Given the description of an element on the screen output the (x, y) to click on. 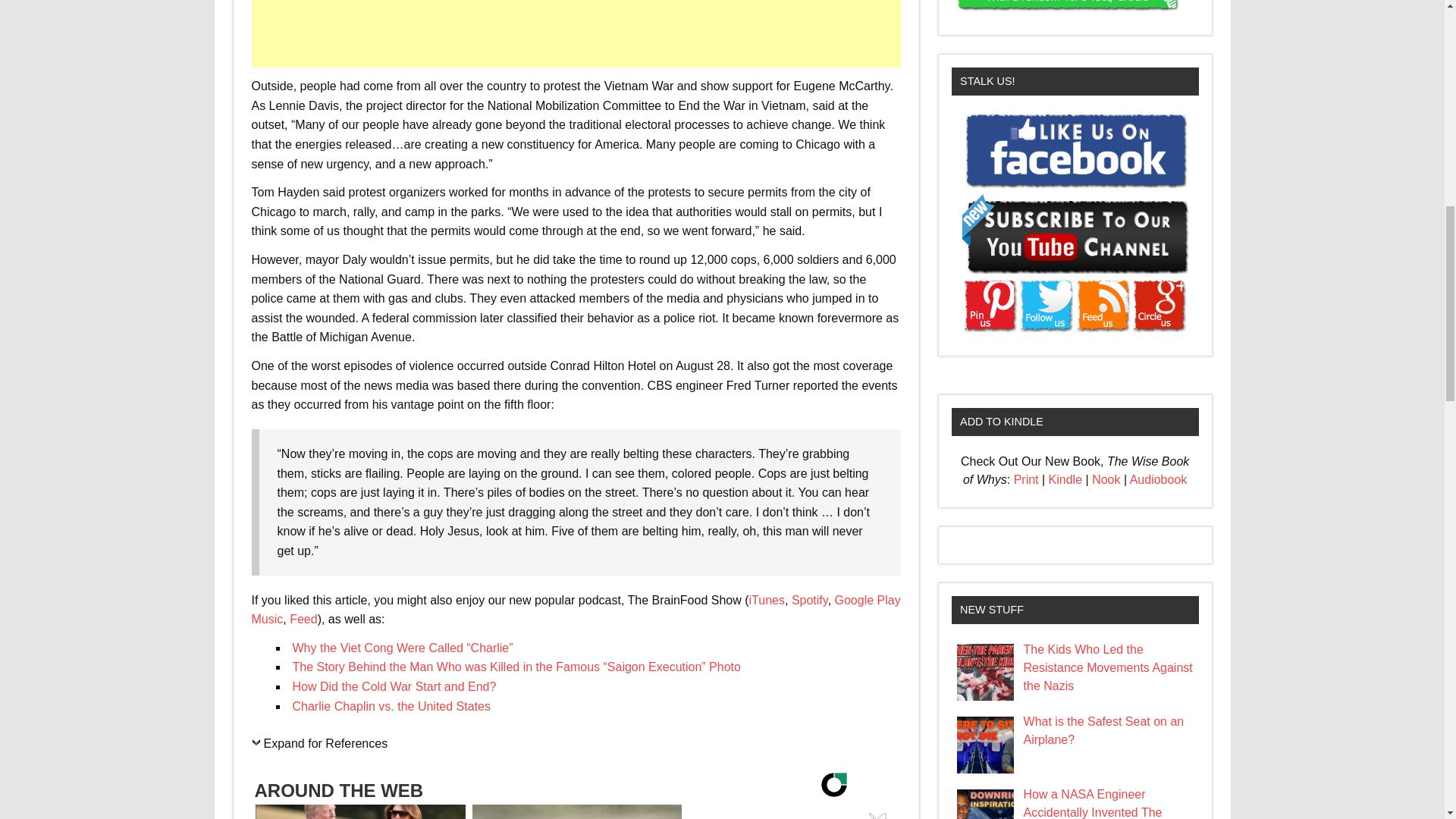
Advertisement (577, 33)
Expand for References (319, 747)
10 Melania Facts That Will Stun You (358, 811)
